Given the description of an element on the screen output the (x, y) to click on. 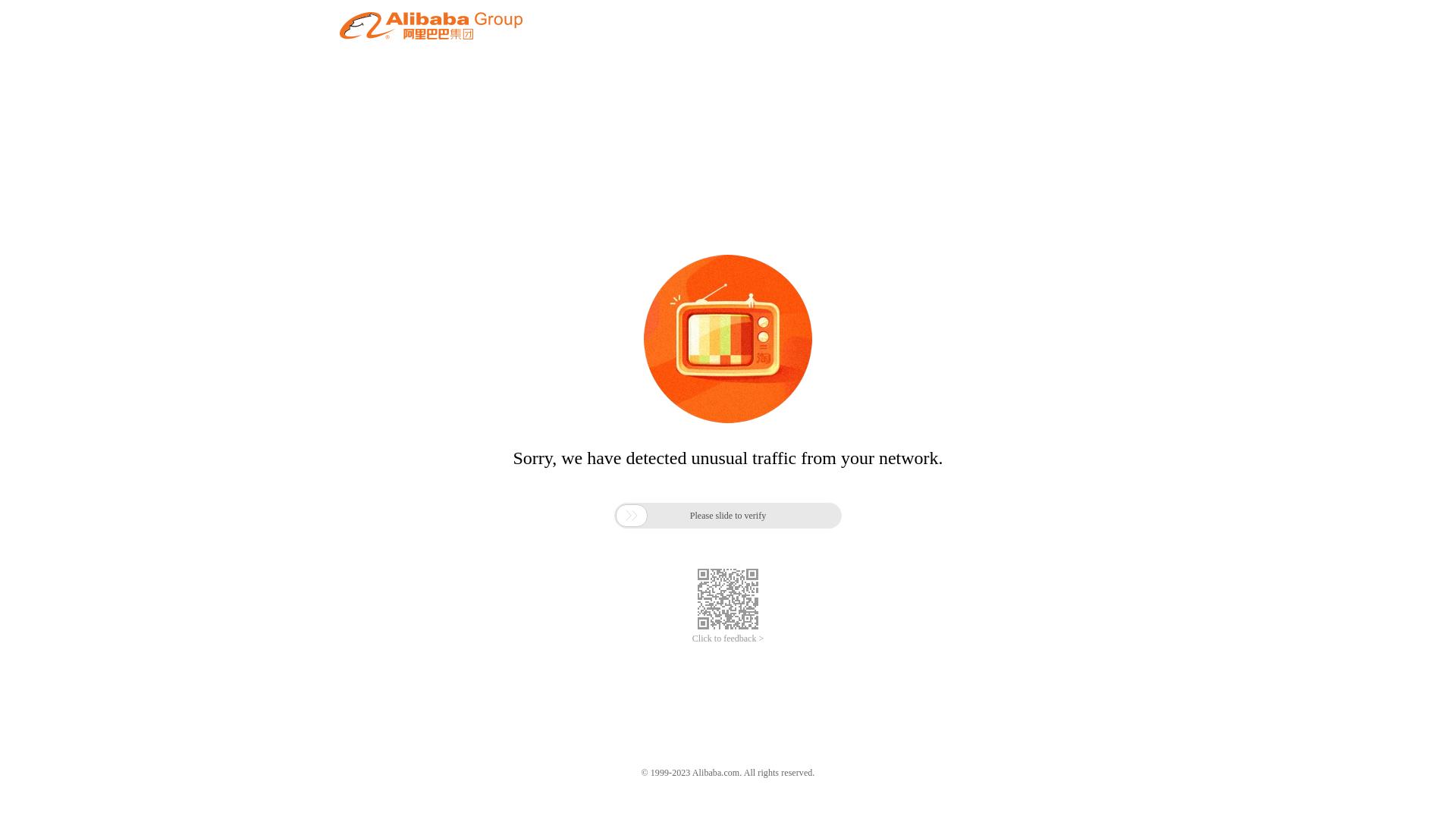
Click to feedback > Element type: text (727, 638)
